Given the description of an element on the screen output the (x, y) to click on. 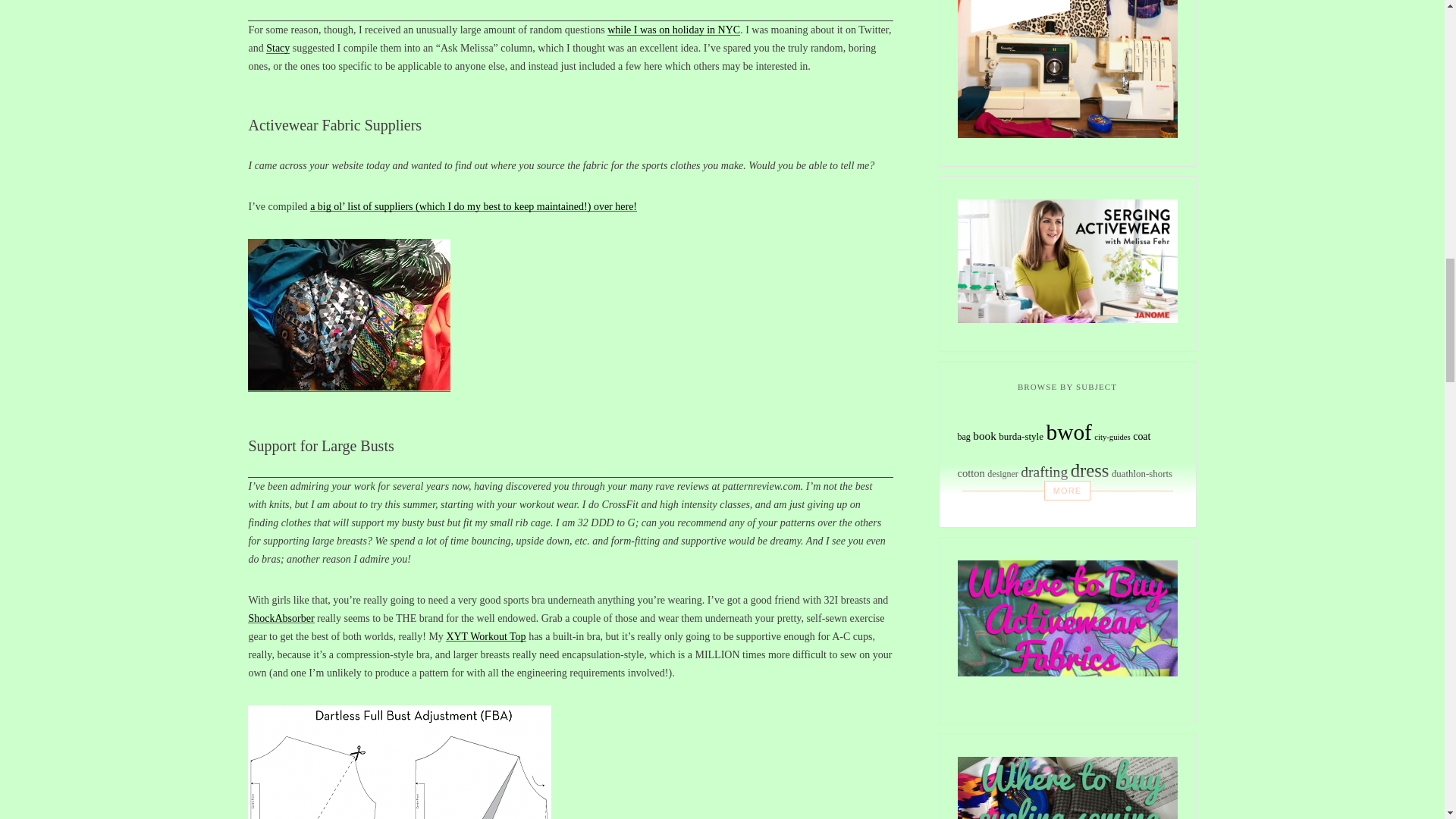
Stacy (277, 48)
while I was on holiday in NYC (673, 30)
XYT Workout Top (485, 636)
ShockAbsorber (280, 618)
